Given the description of an element on the screen output the (x, y) to click on. 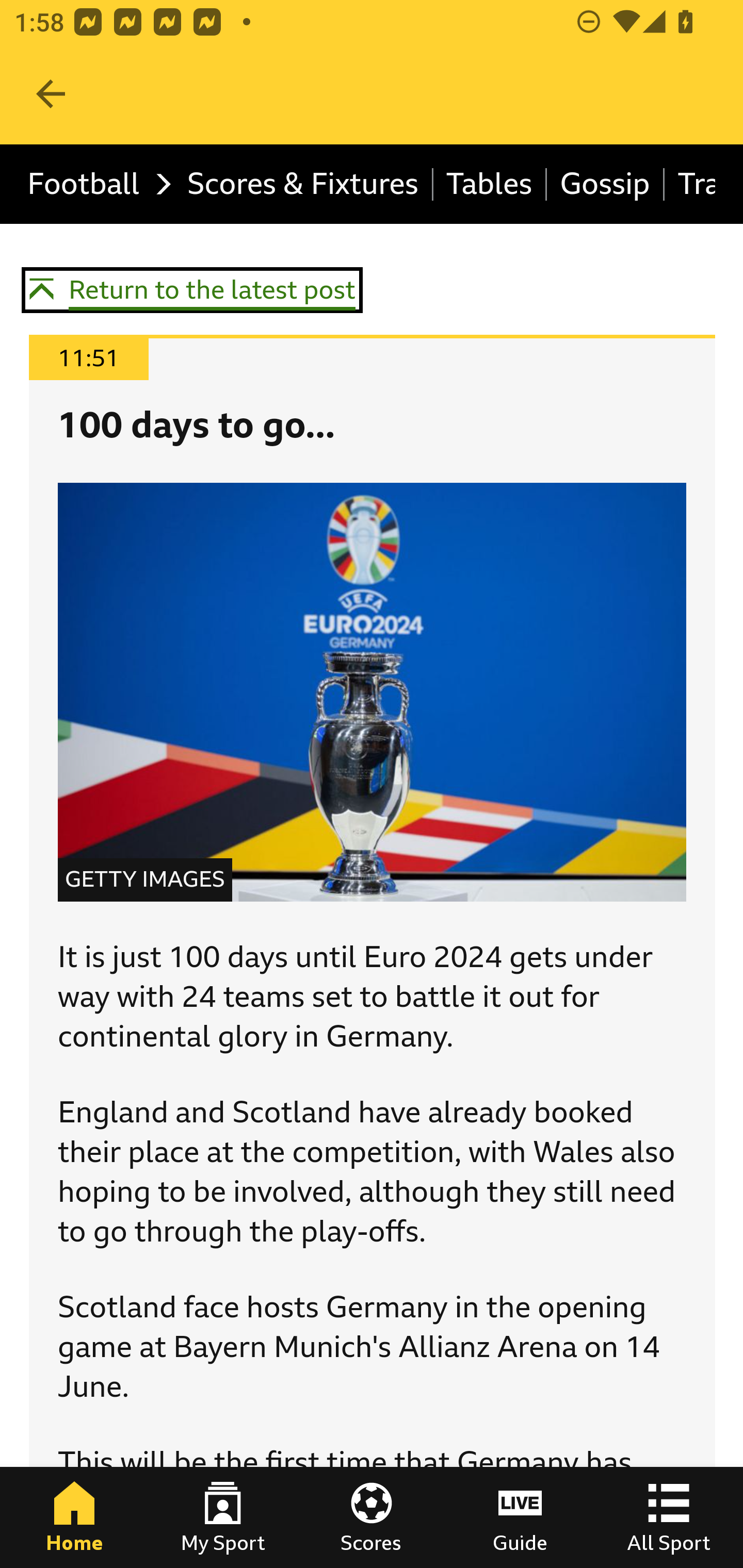
Navigate up (50, 93)
My Sport (222, 1517)
Scores (371, 1517)
Guide (519, 1517)
All Sport (668, 1517)
